Given the description of an element on the screen output the (x, y) to click on. 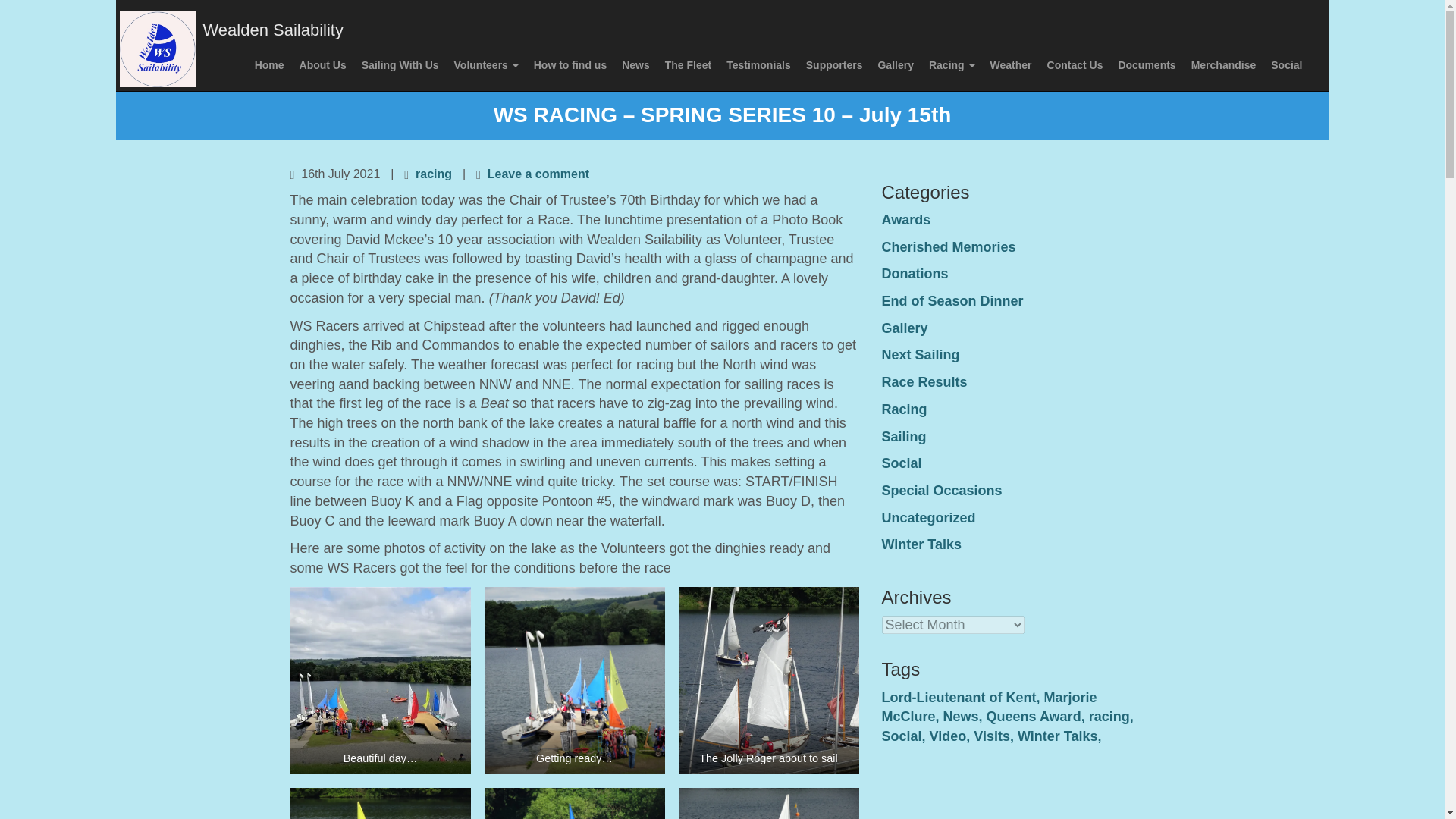
The Fleet (688, 65)
Supporters (833, 65)
Awards (905, 219)
Volunteers (485, 65)
racing (432, 173)
Leave a comment (538, 173)
About Us (322, 65)
Sailing With Us (399, 65)
Race Results (923, 381)
Contact Us (1074, 65)
Social (1285, 65)
Wealden Sailability (271, 30)
About Us (322, 65)
Donations (913, 273)
Racing (951, 65)
